Given the description of an element on the screen output the (x, y) to click on. 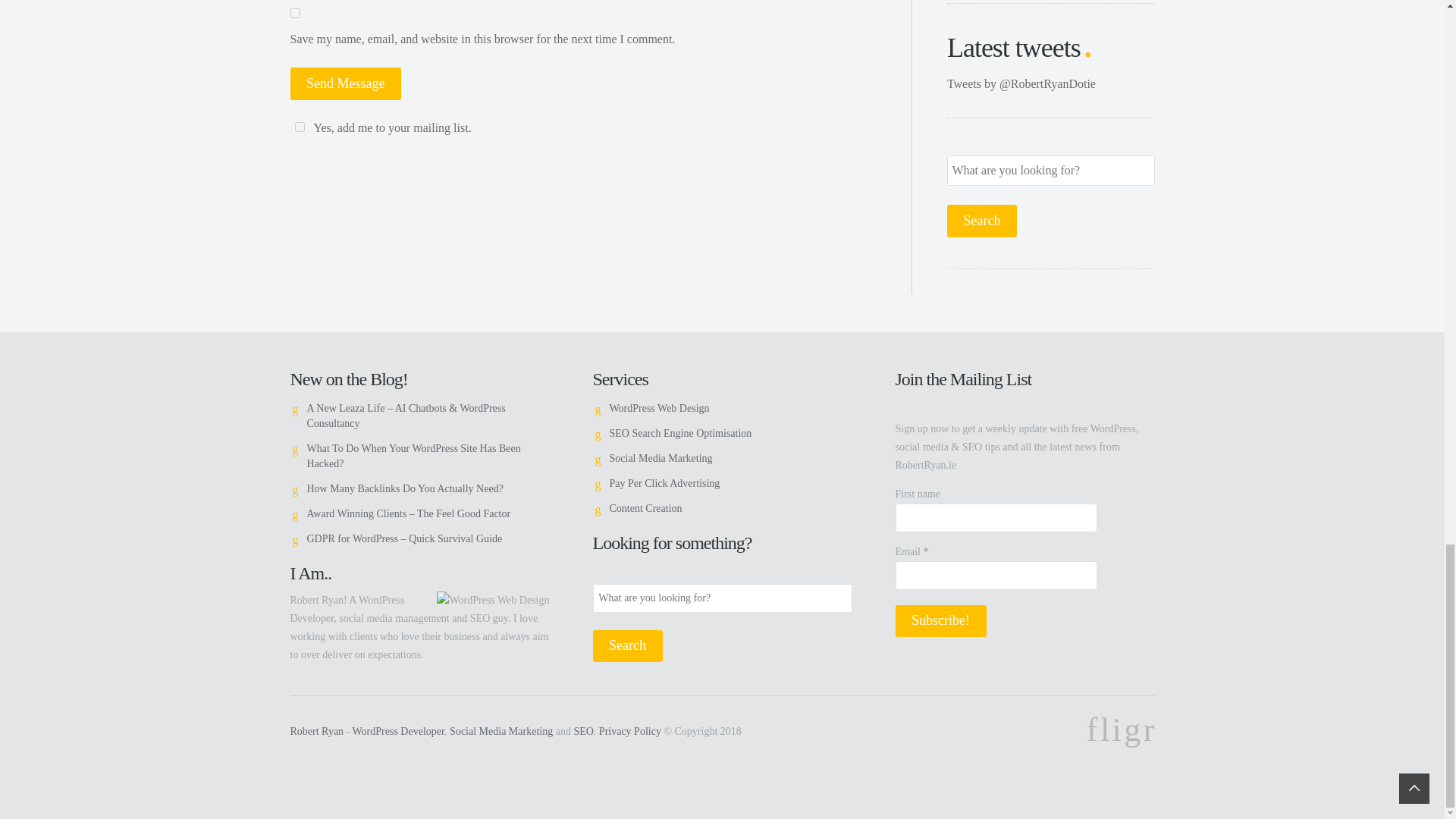
Search (981, 220)
Search (627, 645)
WordPress Web Design (660, 408)
1 (298, 126)
Subscribe! (940, 621)
Send Message (345, 83)
SEO Search Engine Optimisation (681, 432)
Send Message (345, 83)
yes (294, 13)
